Given the description of an element on the screen output the (x, y) to click on. 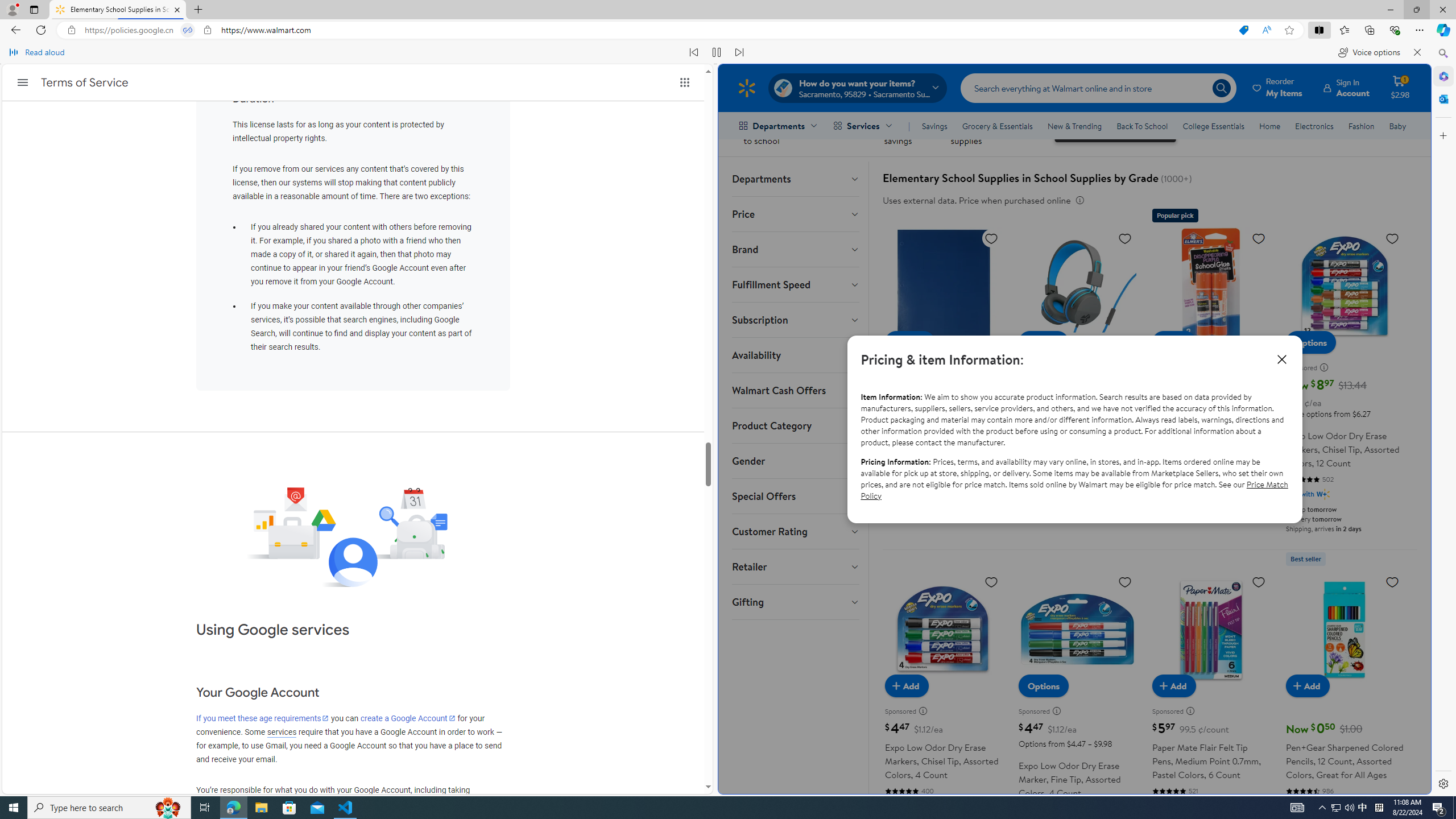
Pause read aloud (Ctrl+Shift+U) (716, 52)
Tabs in split screen (187, 29)
Close read aloud (1417, 52)
Price Match Policy (1074, 489)
Read next paragraph (739, 52)
This site has coupons! Shopping in Microsoft Edge, 7 (1243, 29)
